Given the description of an element on the screen output the (x, y) to click on. 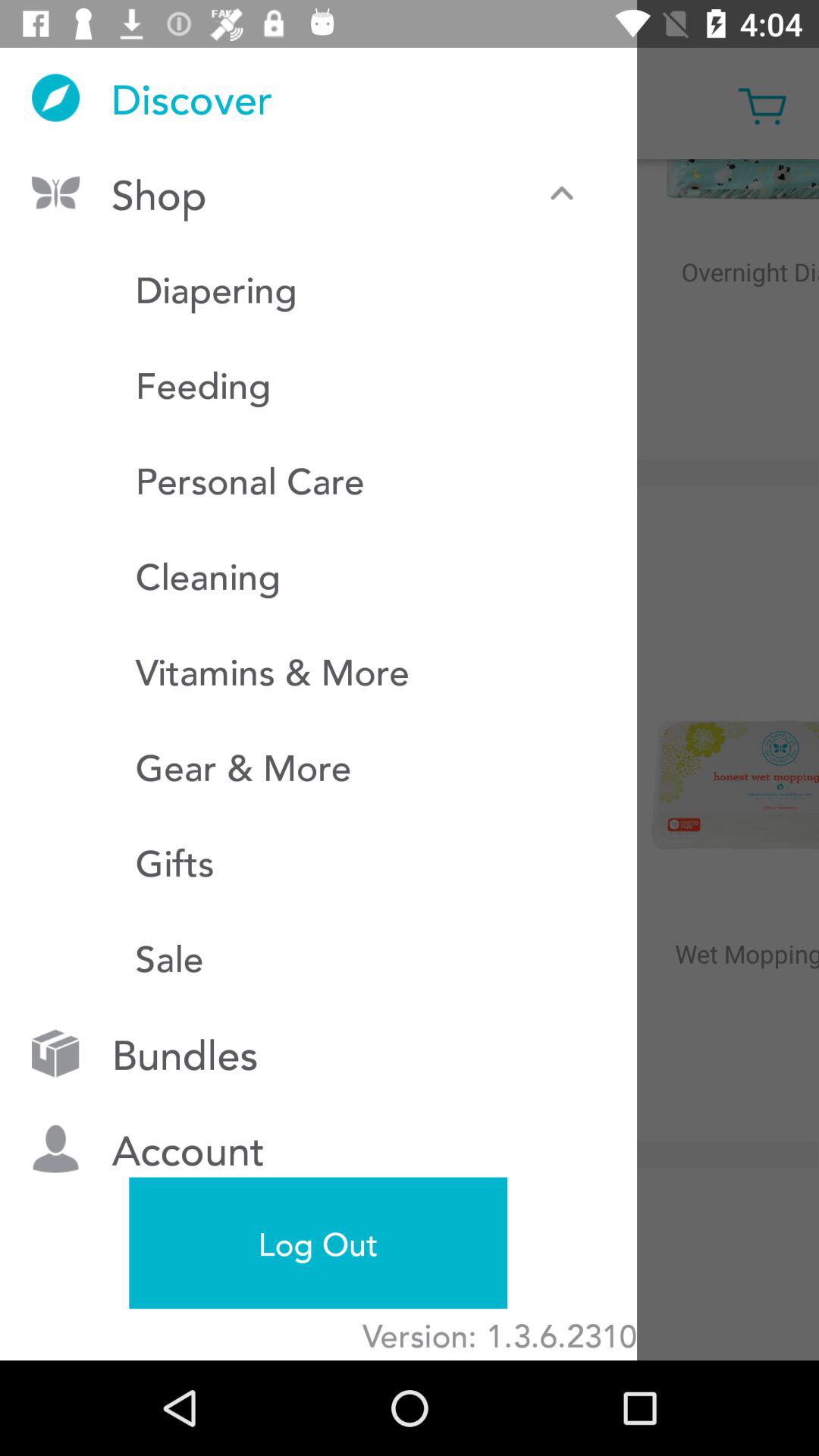
click on the text overnight di (726, 303)
click on the icon left to shop (55, 193)
